Given the description of an element on the screen output the (x, y) to click on. 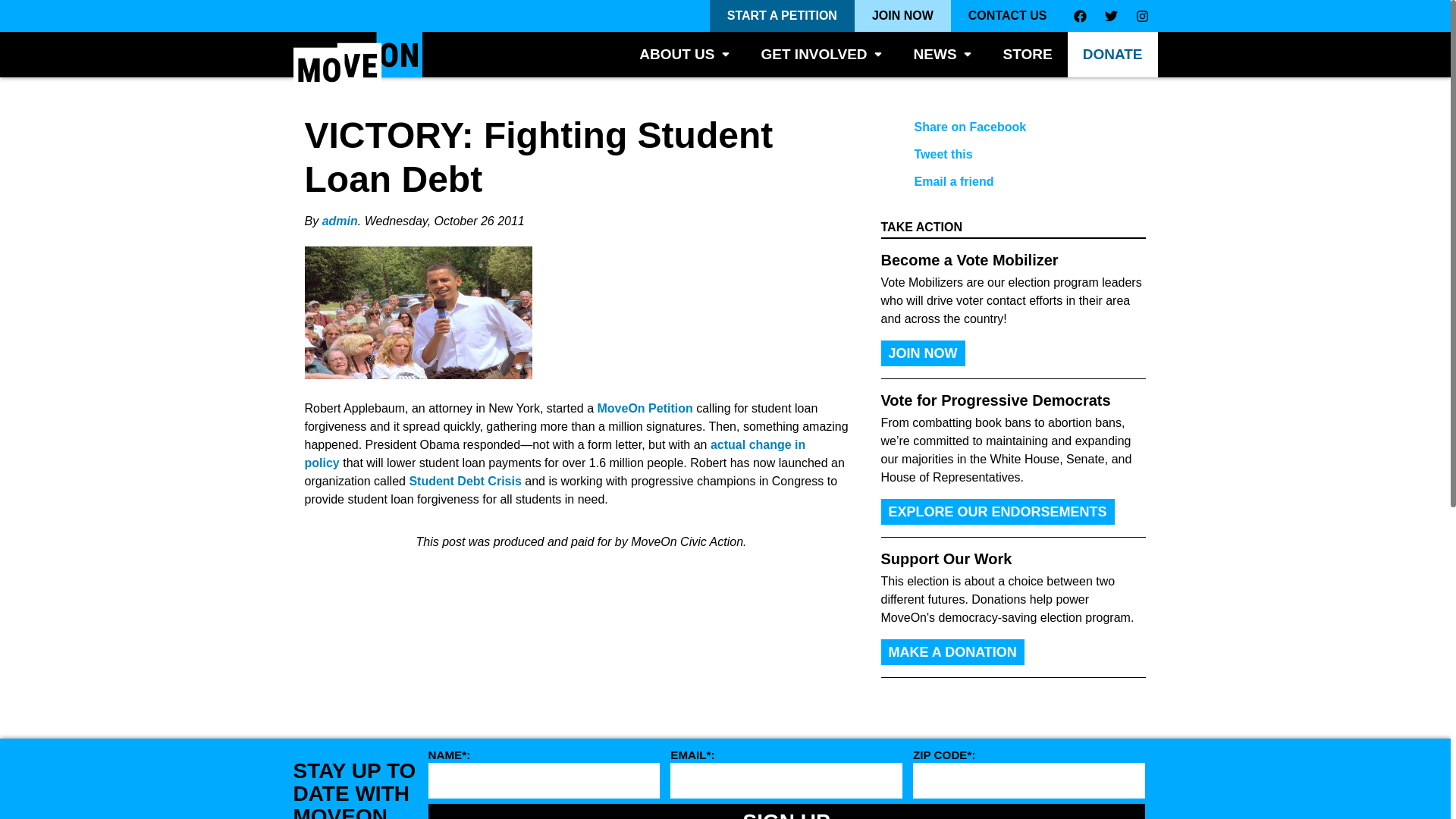
EXPLORE OUR ENDORSEMENTS (997, 511)
MAKE A DONATION (952, 652)
JOIN NOW (922, 353)
Share on Facebook (1001, 126)
Tweet this (1001, 154)
DONATE (1112, 53)
actual change in policy (555, 453)
Email a friend (1001, 181)
JOIN NOW (902, 15)
CONTACT US (1007, 15)
admin (339, 220)
MoveOn Petition (644, 408)
Student Debt Crisis (465, 481)
Posts by admin (339, 220)
START A PETITION (782, 15)
